Given the description of an element on the screen output the (x, y) to click on. 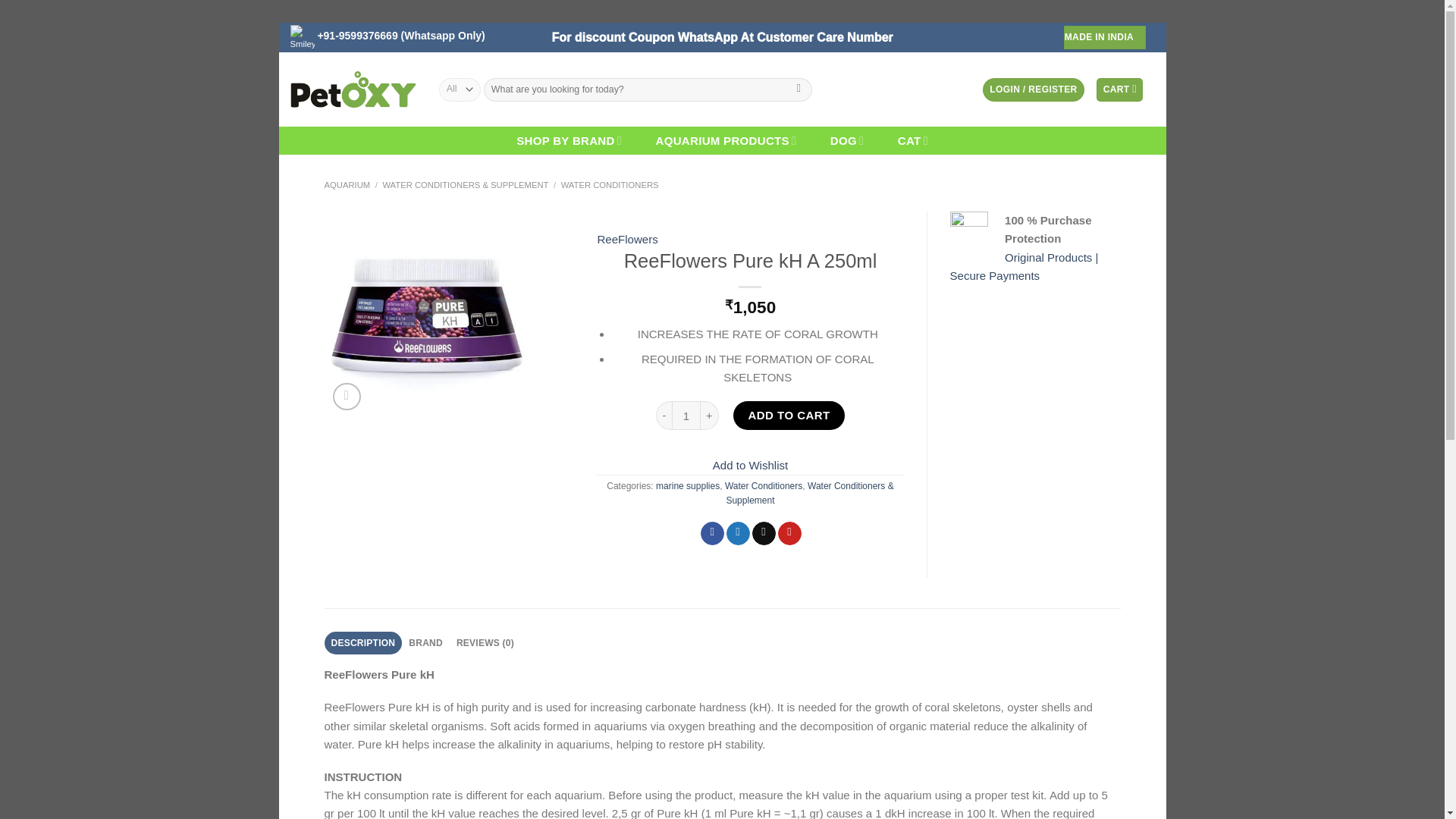
Zoom (346, 396)
SHOP BY BRAND (569, 140)
1 (685, 415)
Pin on Pinterest (789, 533)
Search (798, 88)
Email to a Friend (764, 533)
reeflowers k (426, 314)
Qty (685, 415)
Share on Twitter (737, 533)
View brand (627, 239)
Share on Facebook (711, 533)
Petoxy.com - Oxtytocin's Delivered Worldwide (351, 89)
